Given the description of an element on the screen output the (x, y) to click on. 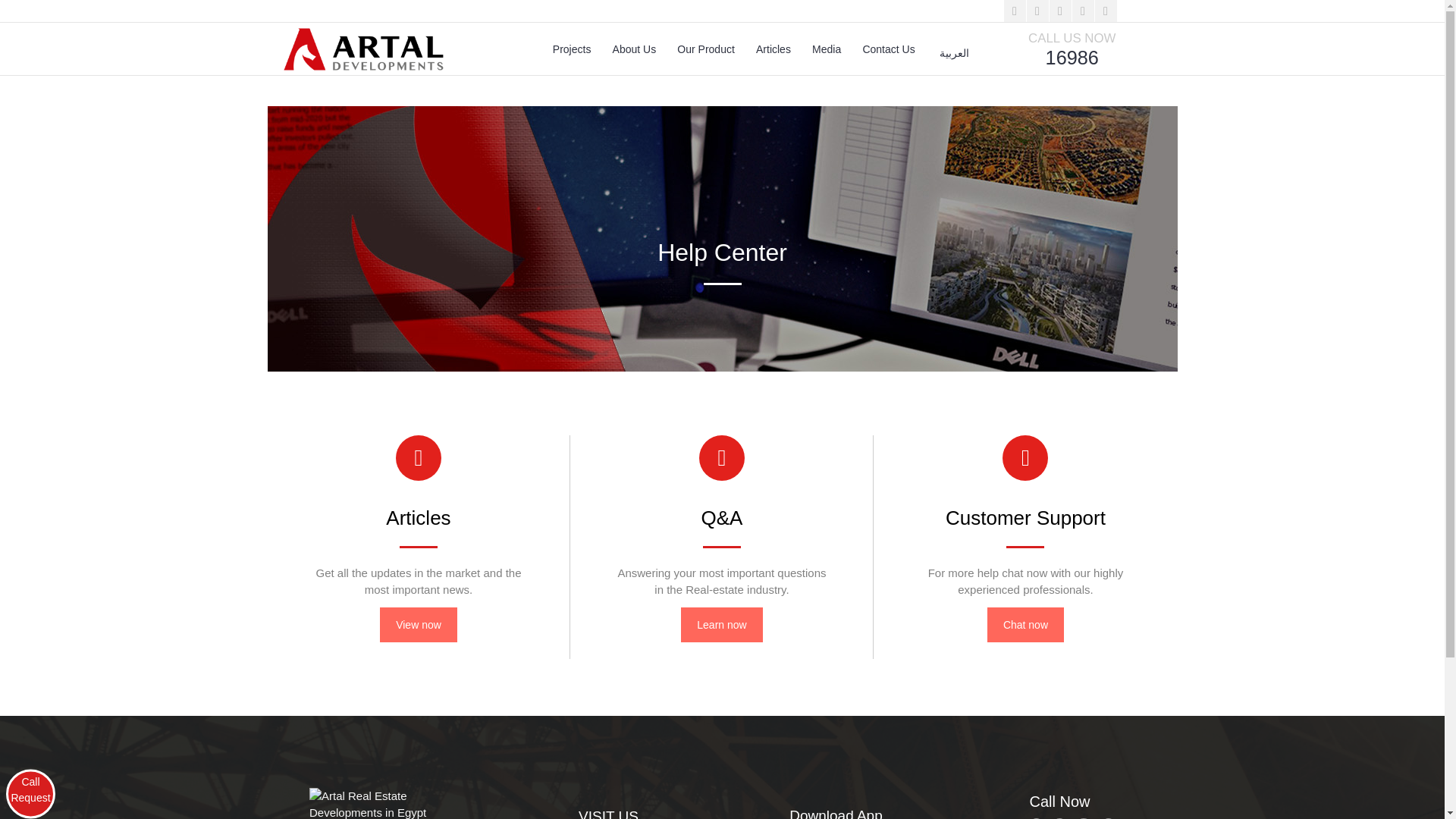
16986 (1072, 56)
Twitter (1037, 11)
Real Estate Developments (363, 49)
View now (418, 624)
YouTube (1082, 11)
Chat now (1025, 624)
About Us (634, 49)
16986 (1058, 814)
Facebook (1015, 11)
Articles (772, 49)
Instagram (1105, 11)
Learn now (721, 624)
Contact Us (888, 49)
Call Request (30, 794)
Our Product (705, 49)
